Given the description of an element on the screen output the (x, y) to click on. 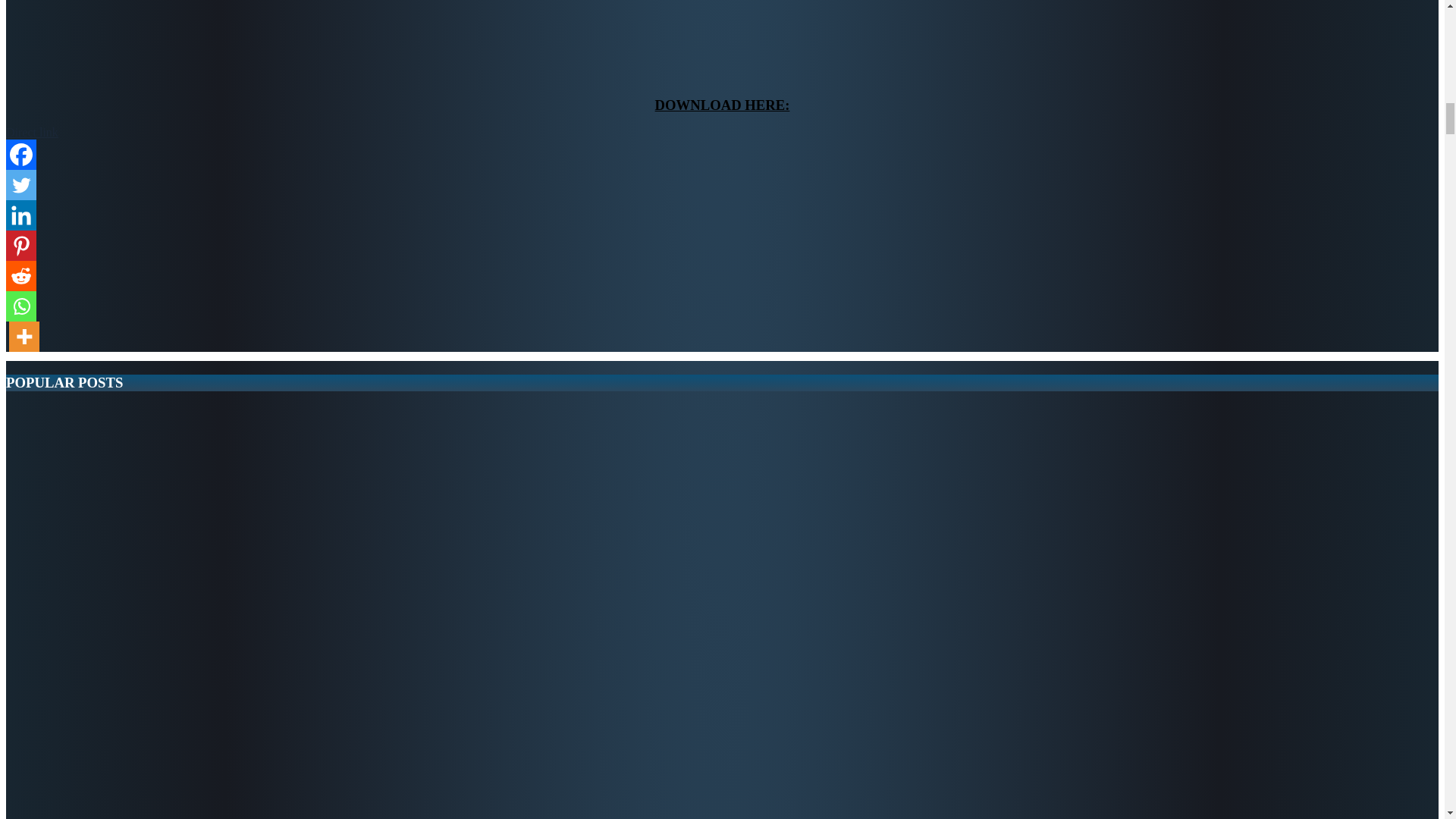
More (23, 336)
Reddit (20, 276)
Facebook (20, 154)
Pinterest (20, 245)
Whatsapp (20, 306)
Linkedin (20, 214)
Twitter (20, 184)
Cruelty Squad 1.0 Launch Trailer (195, 40)
